Given the description of an element on the screen output the (x, y) to click on. 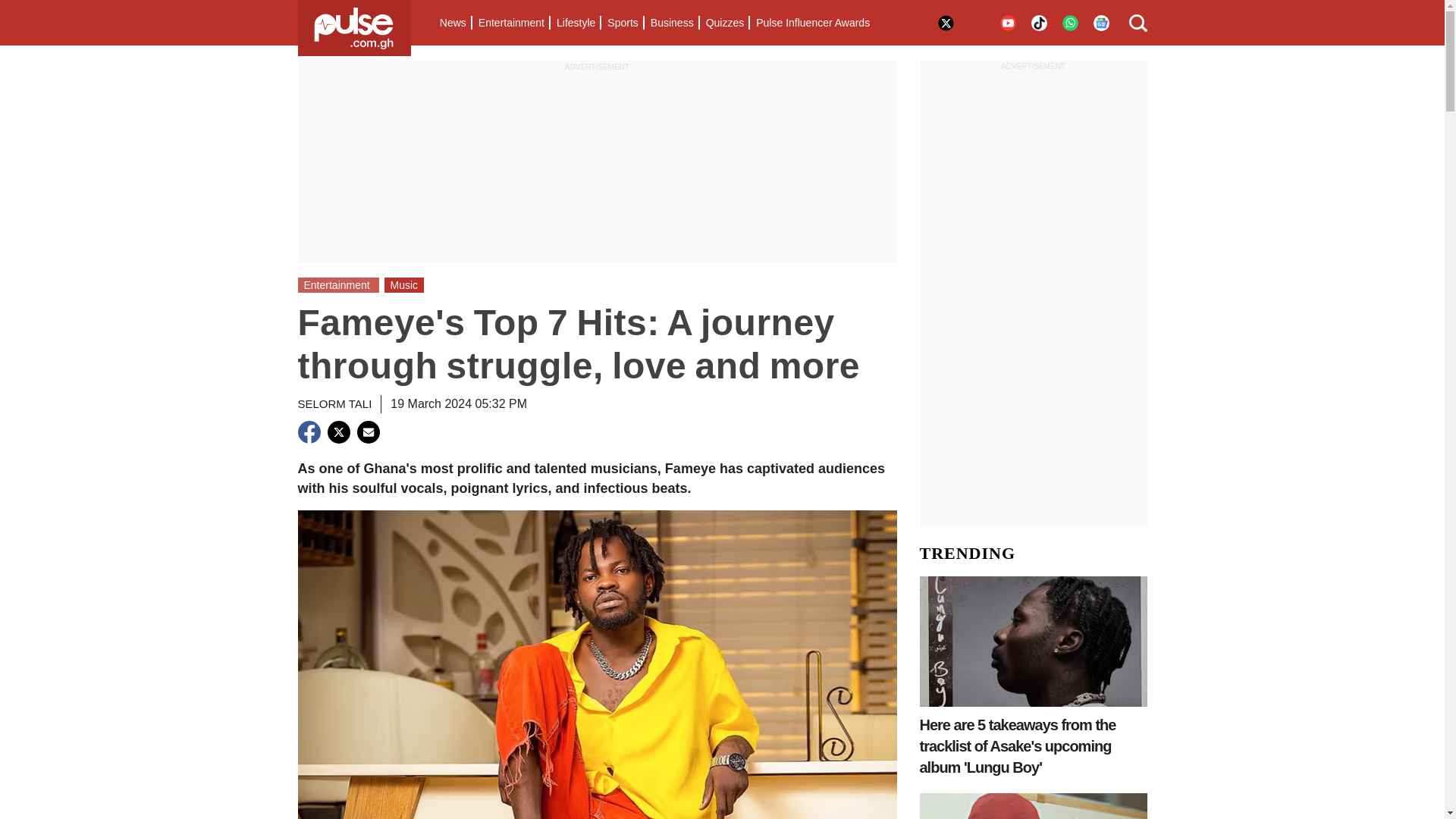
Entertainment (510, 22)
Business (672, 22)
Sports (622, 22)
Lifestyle (575, 22)
